Given the description of an element on the screen output the (x, y) to click on. 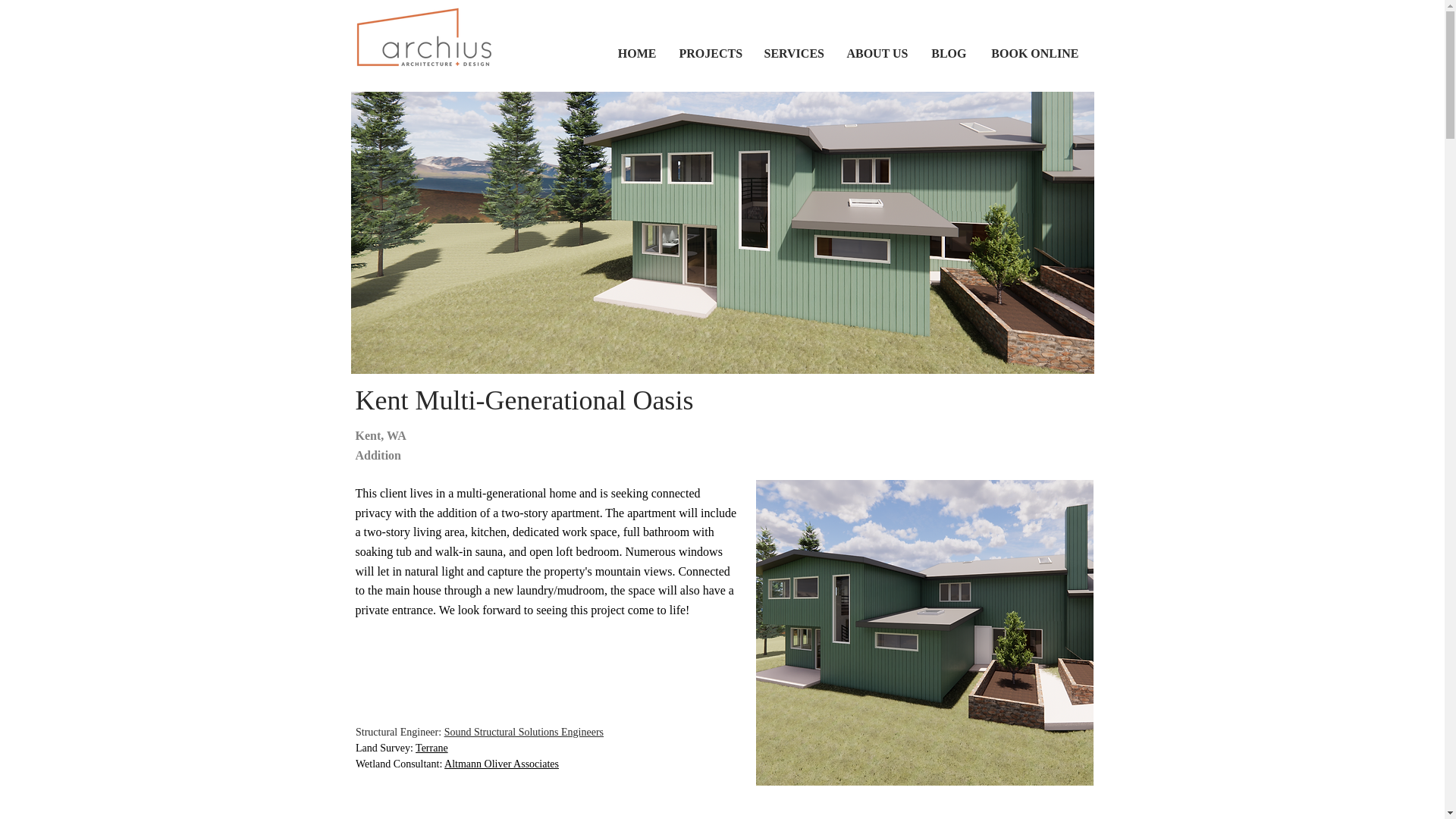
BOOK ONLINE (1034, 53)
HOME (637, 53)
SERVICES (792, 53)
ABOUT US (875, 53)
Sound Structural Solutions Engineers (523, 731)
ex 4.png (924, 632)
BLOG (947, 53)
Altmann Oliver Associates (501, 763)
Terrane (431, 747)
